Given the description of an element on the screen output the (x, y) to click on. 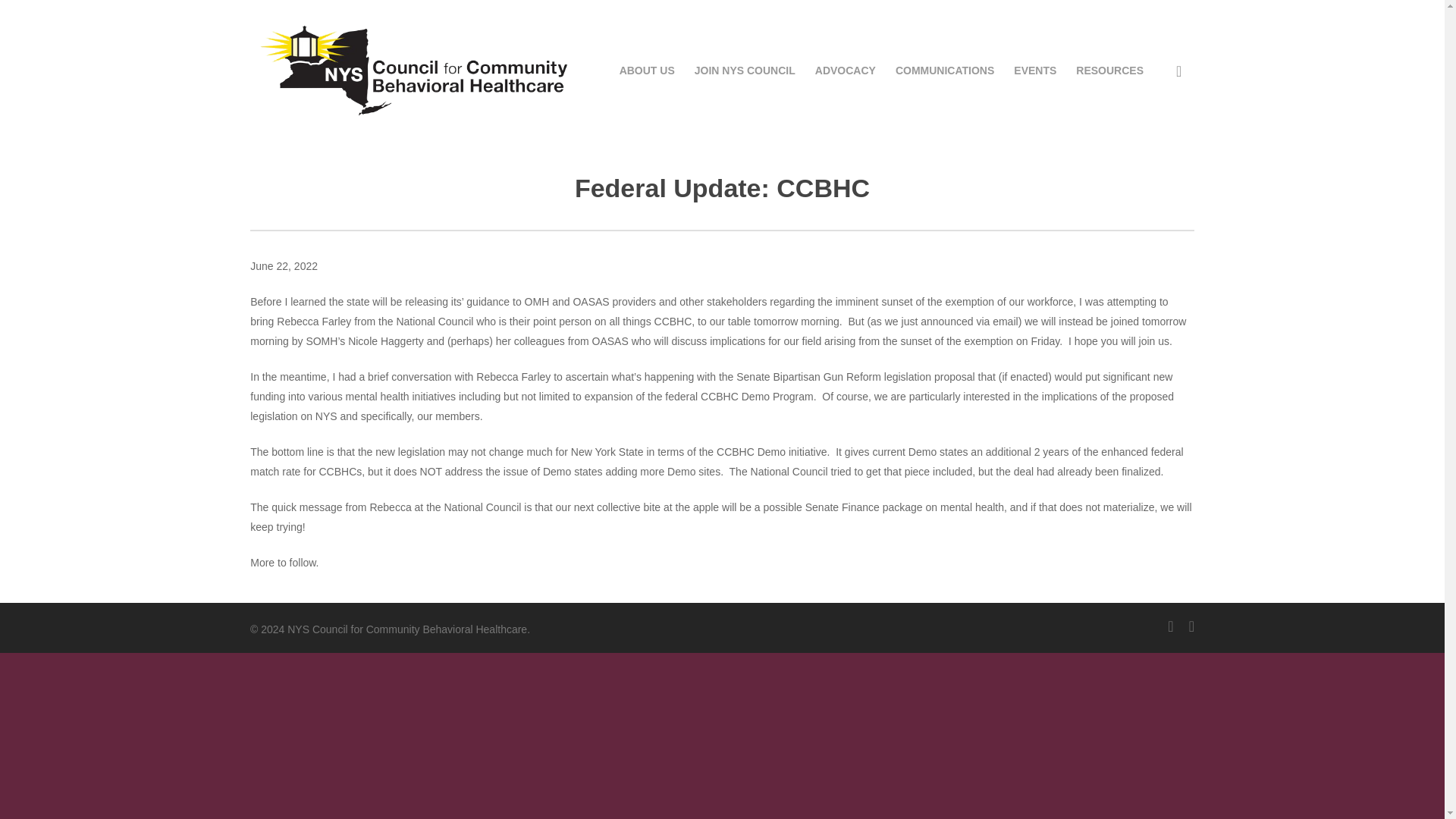
EVENTS (1035, 70)
ABOUT US (647, 70)
ADVOCACY (845, 70)
JOIN NYS COUNCIL (744, 70)
RESOURCES (1108, 70)
COMMUNICATIONS (944, 70)
